Given the description of an element on the screen output the (x, y) to click on. 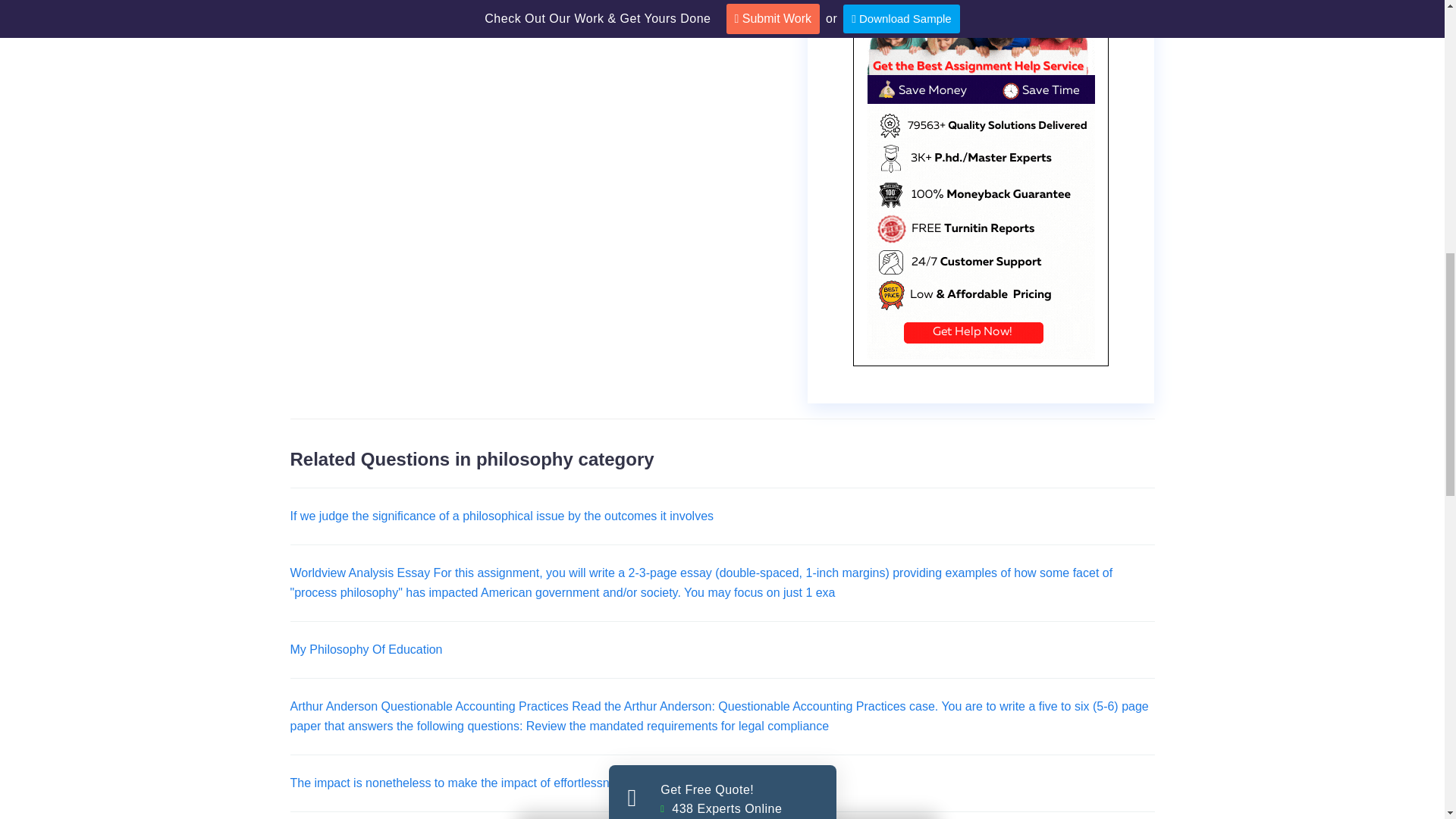
Submit Assignment (722, 635)
My Philosophy Of Education (365, 649)
